Given the description of an element on the screen output the (x, y) to click on. 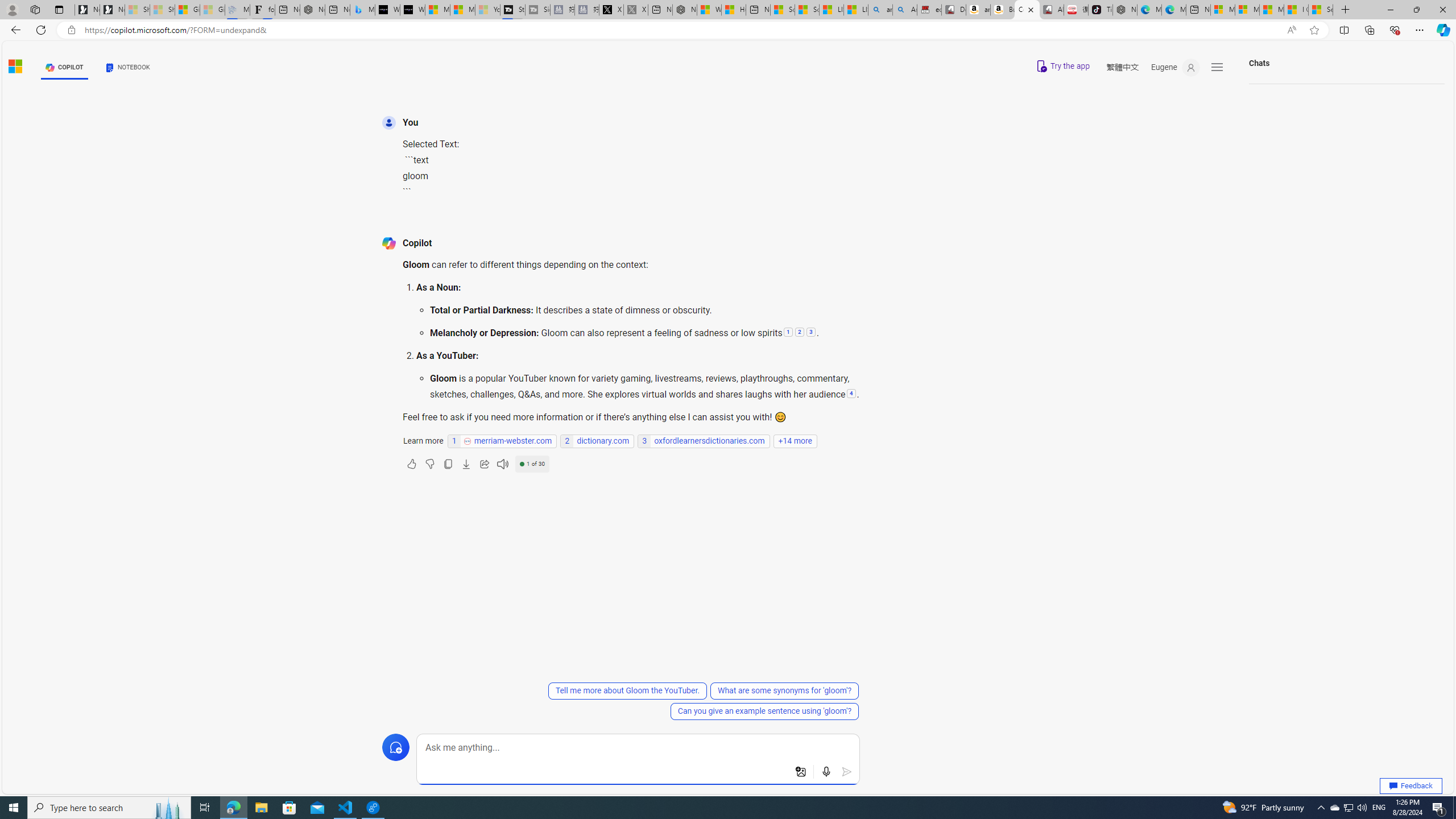
Nordace - My Account (684, 9)
Microsoft Bing Travel - Shangri-La Hotel Bangkok (362, 9)
Tell me more about Gloom the YouTuber. (627, 690)
NOTEBOOK (127, 67)
1: Melancholy or Depression: (787, 332)
Newsletter Sign Up (111, 9)
